Given the description of an element on the screen output the (x, y) to click on. 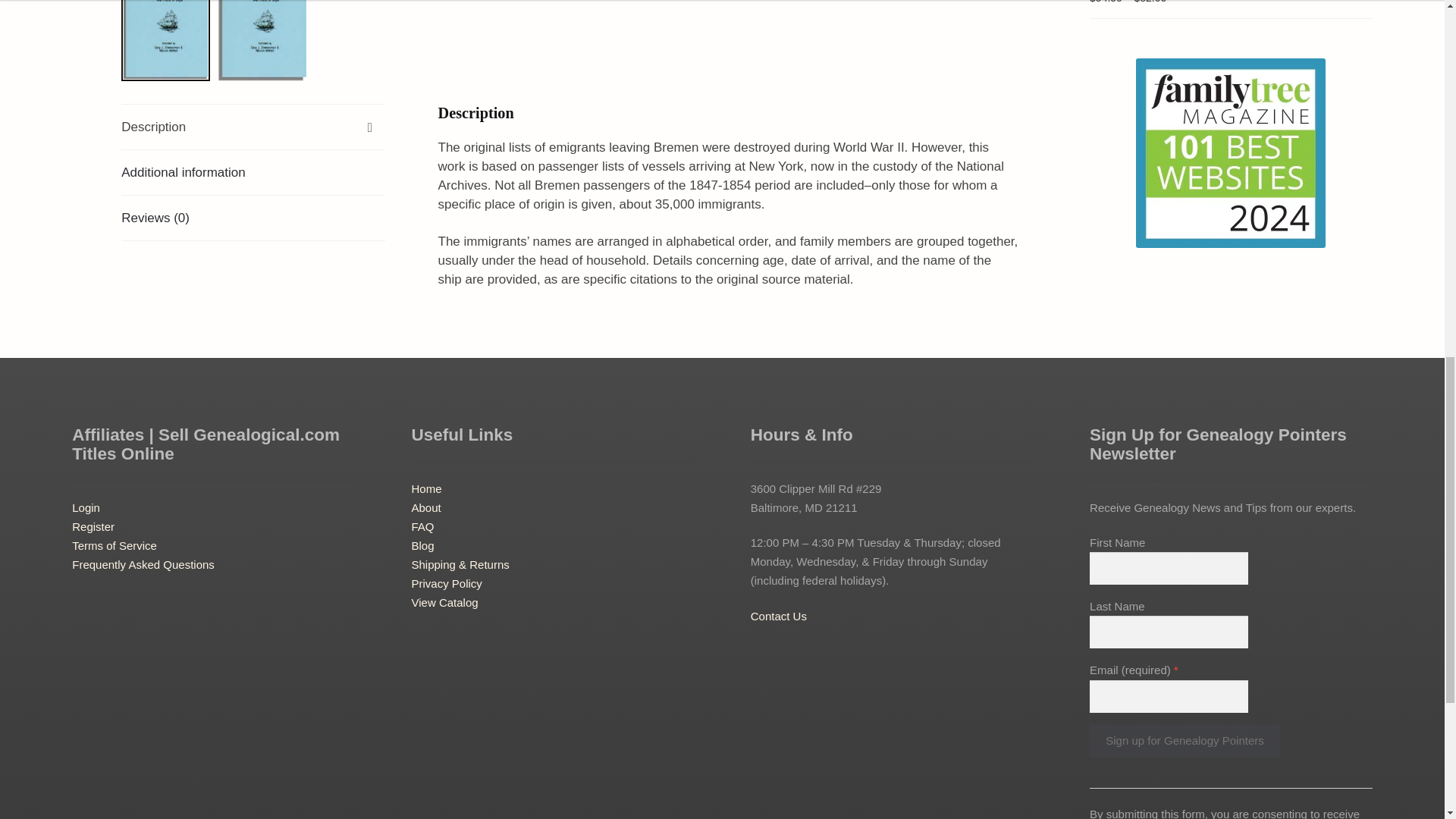
Sign up for Genealogy Pointers (1184, 740)
